Given the description of an element on the screen output the (x, y) to click on. 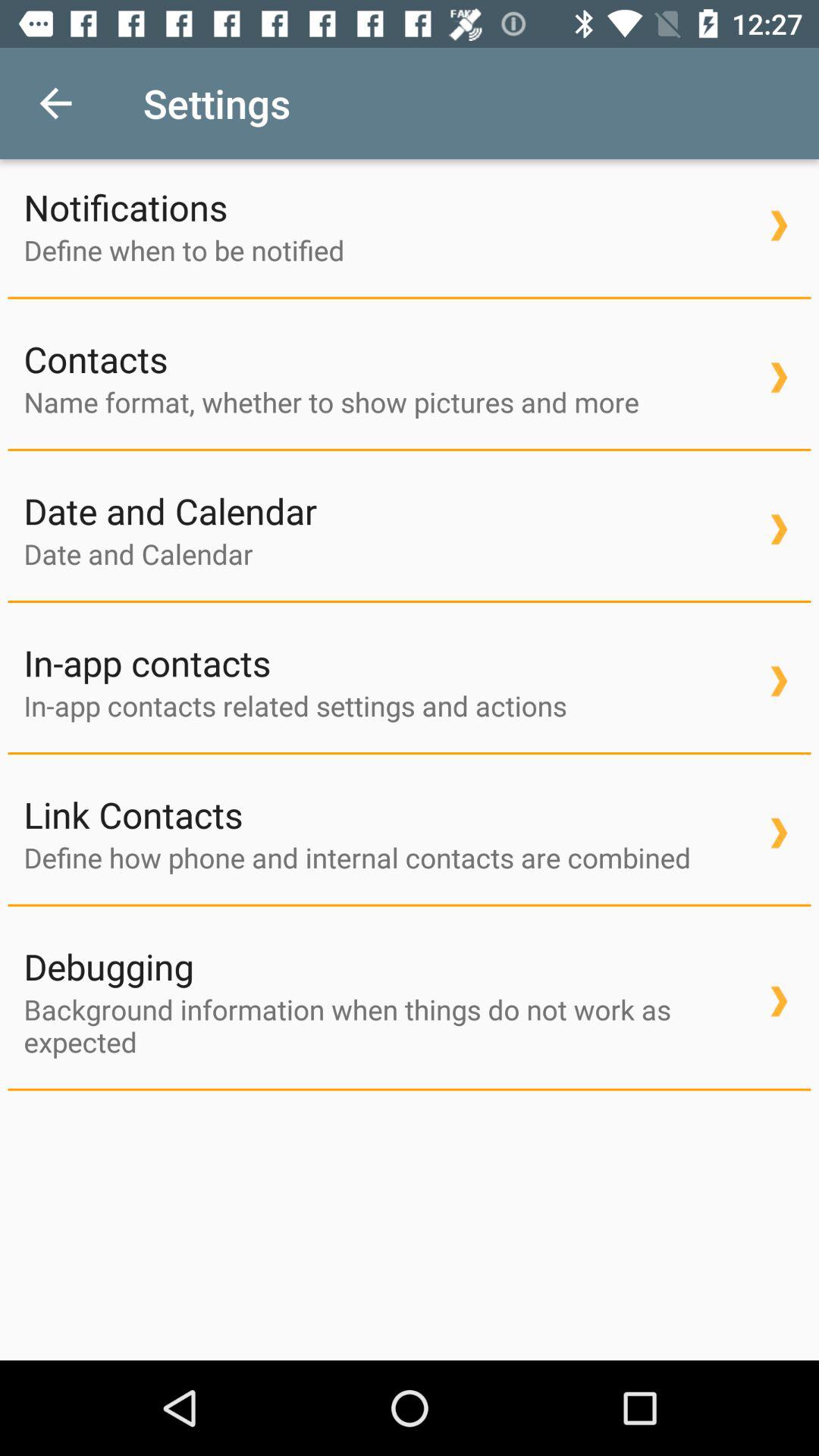
tap the icon above the notifications (55, 103)
